Given the description of an element on the screen output the (x, y) to click on. 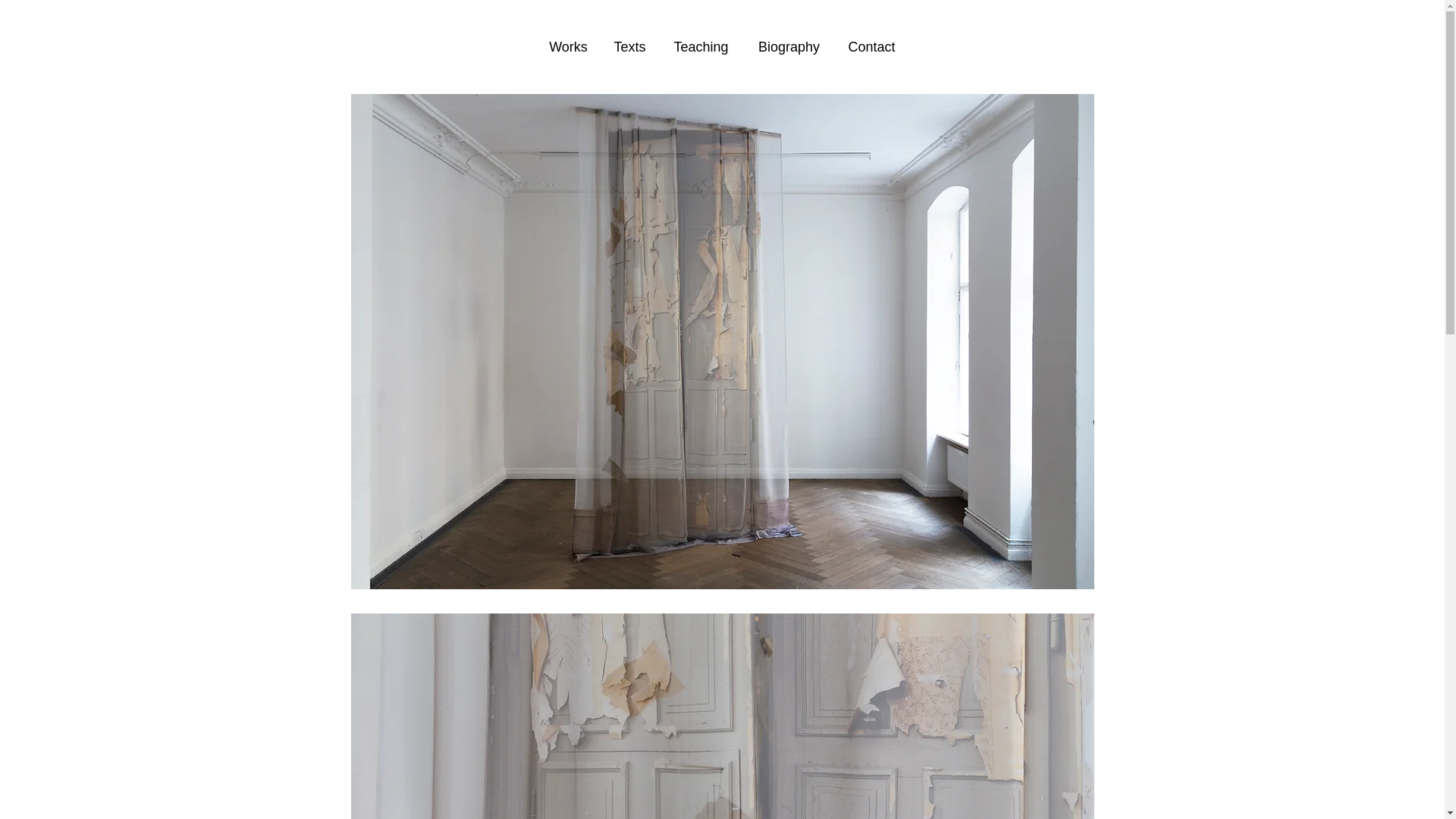
Works (567, 46)
Teaching (700, 46)
Biography (788, 46)
Contact (871, 46)
Texts (628, 46)
